Given the description of an element on the screen output the (x, y) to click on. 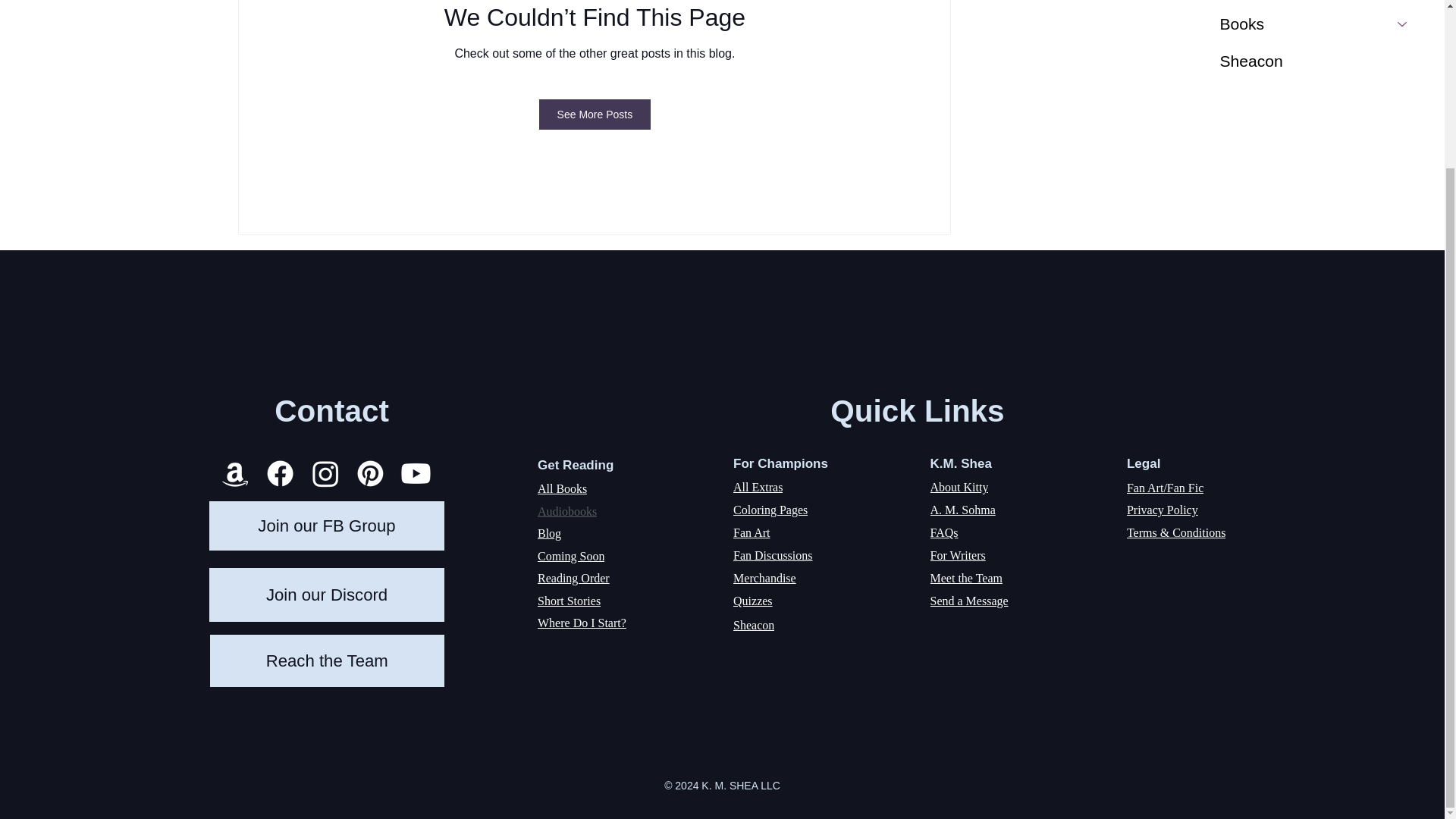
Fun Stuff (1297, 2)
Sheacon (1316, 61)
See More Posts (594, 114)
